Given the description of an element on the screen output the (x, y) to click on. 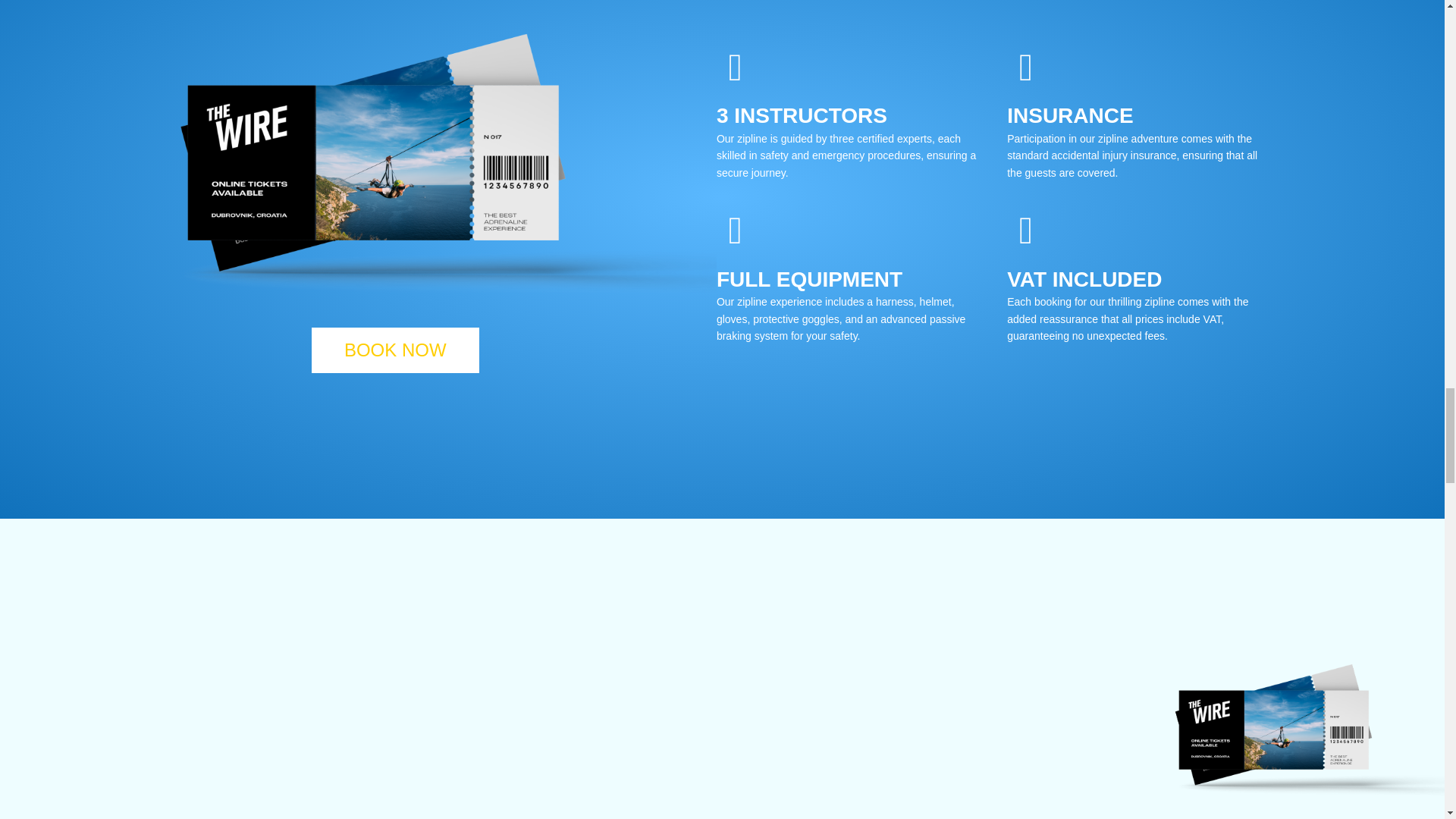
BOOK NOW (395, 350)
